Given the description of an element on the screen output the (x, y) to click on. 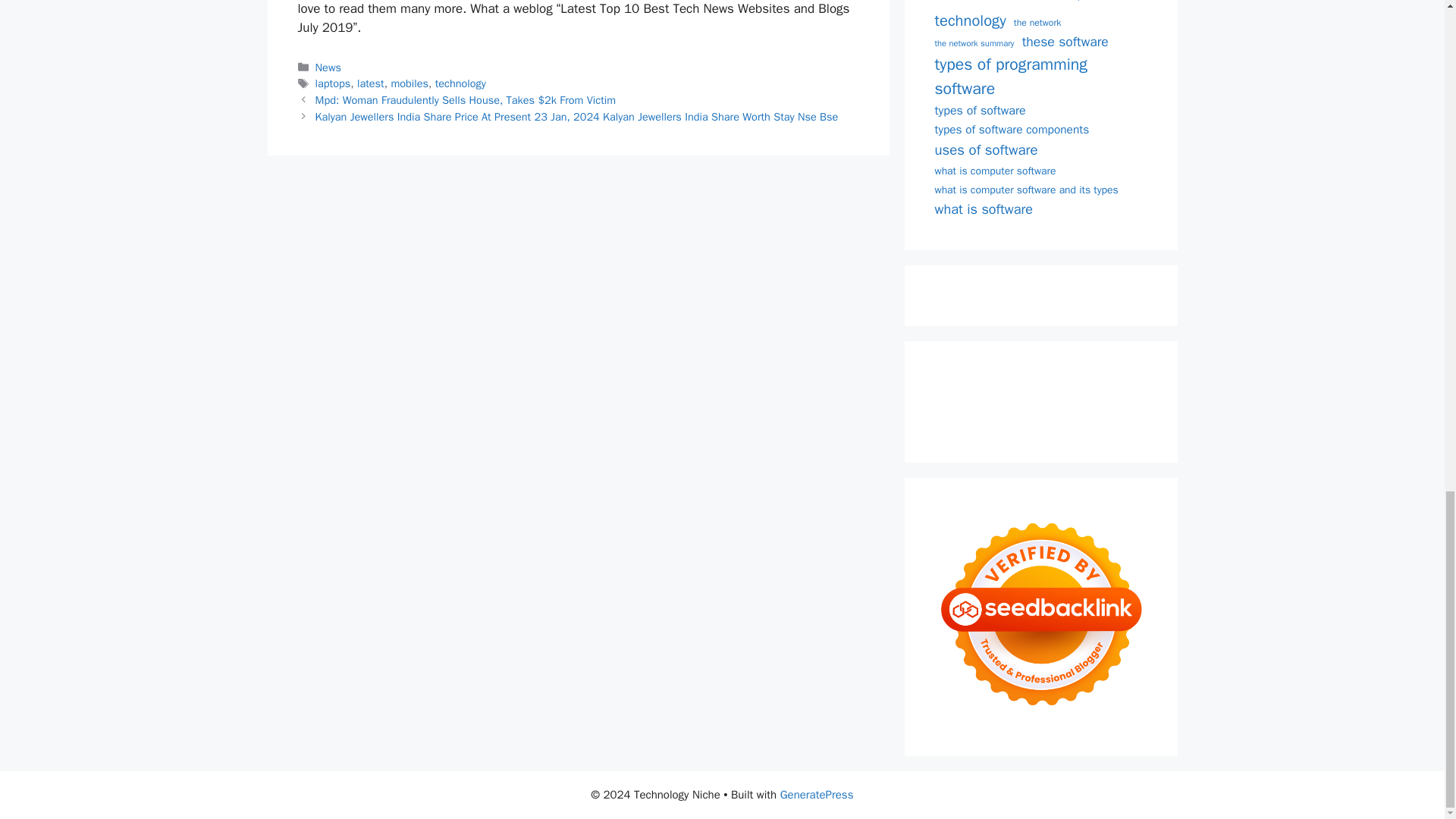
mobiles (409, 83)
latest (370, 83)
laptops (332, 83)
technology (460, 83)
Seedbacklink (1040, 613)
News (327, 67)
